Given the description of an element on the screen output the (x, y) to click on. 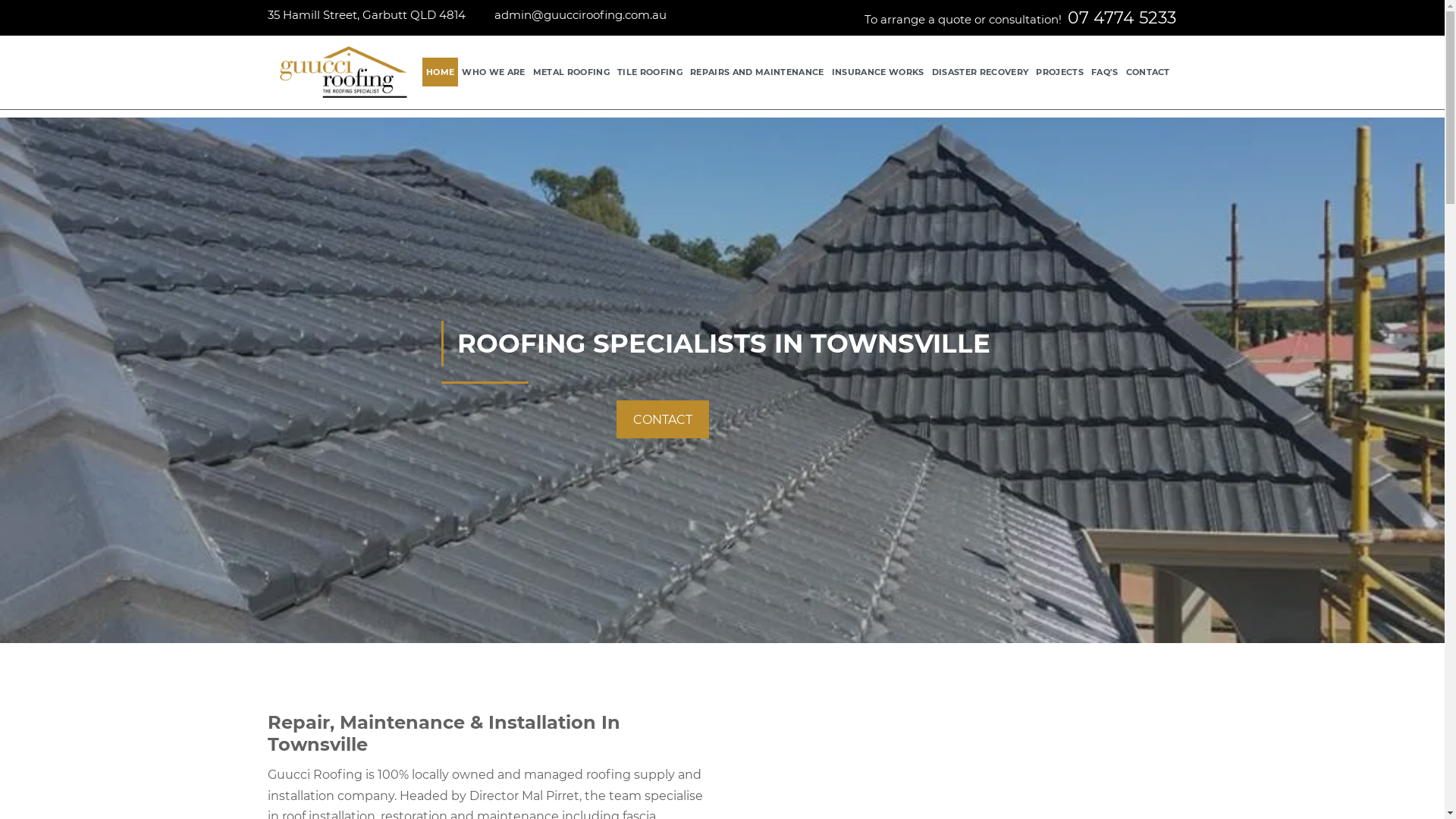
DISASTER RECOVERY Element type: text (980, 71)
PROJECTS Element type: text (1059, 71)
WHO WE ARE Element type: text (493, 71)
CONTACT Element type: text (1147, 71)
35 Hamill Street, Garbutt QLD 4814 Element type: text (365, 14)
TILE ROOFING Element type: text (649, 71)
HOME Element type: text (440, 71)
07 4774 5233 Element type: text (1121, 17)
Roofing Specialists in Garbutt Element type: hover (342, 72)
METAL ROOFING Element type: text (571, 71)
INSURANCE WORKS Element type: text (878, 71)
CONTACT Element type: text (661, 419)
REPAIRS AND MAINTENANCE Element type: text (757, 71)
FAQ'S Element type: text (1104, 71)
admin@guucciroofing.com.au Element type: text (580, 14)
